Given the description of an element on the screen output the (x, y) to click on. 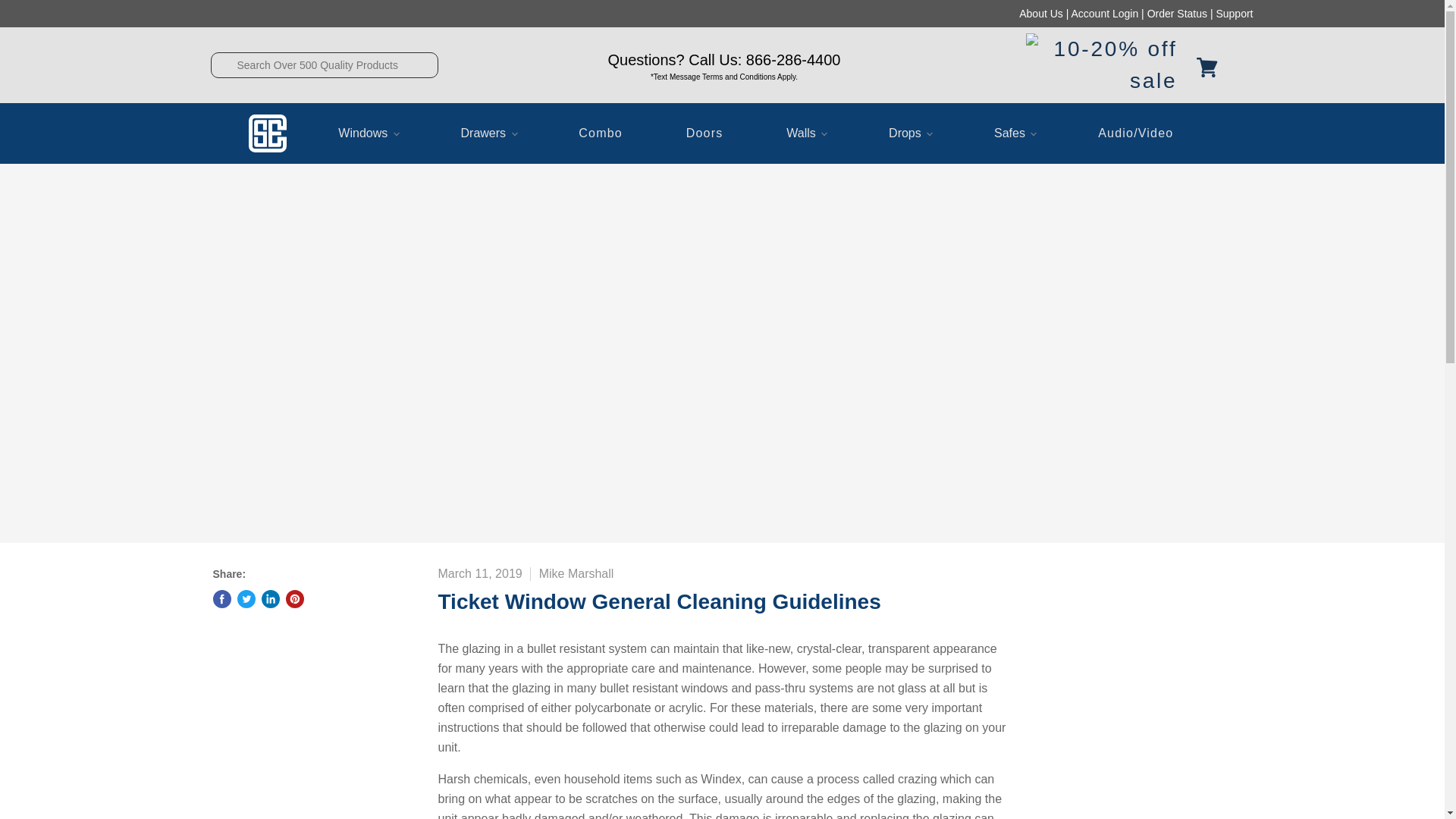
Combo (600, 133)
Questions? Call Us: 866-286-4400 (724, 59)
Account Login (1104, 13)
Support (1233, 13)
About Us (1040, 13)
Order Status (1177, 13)
Doors (705, 133)
